Given the description of an element on the screen output the (x, y) to click on. 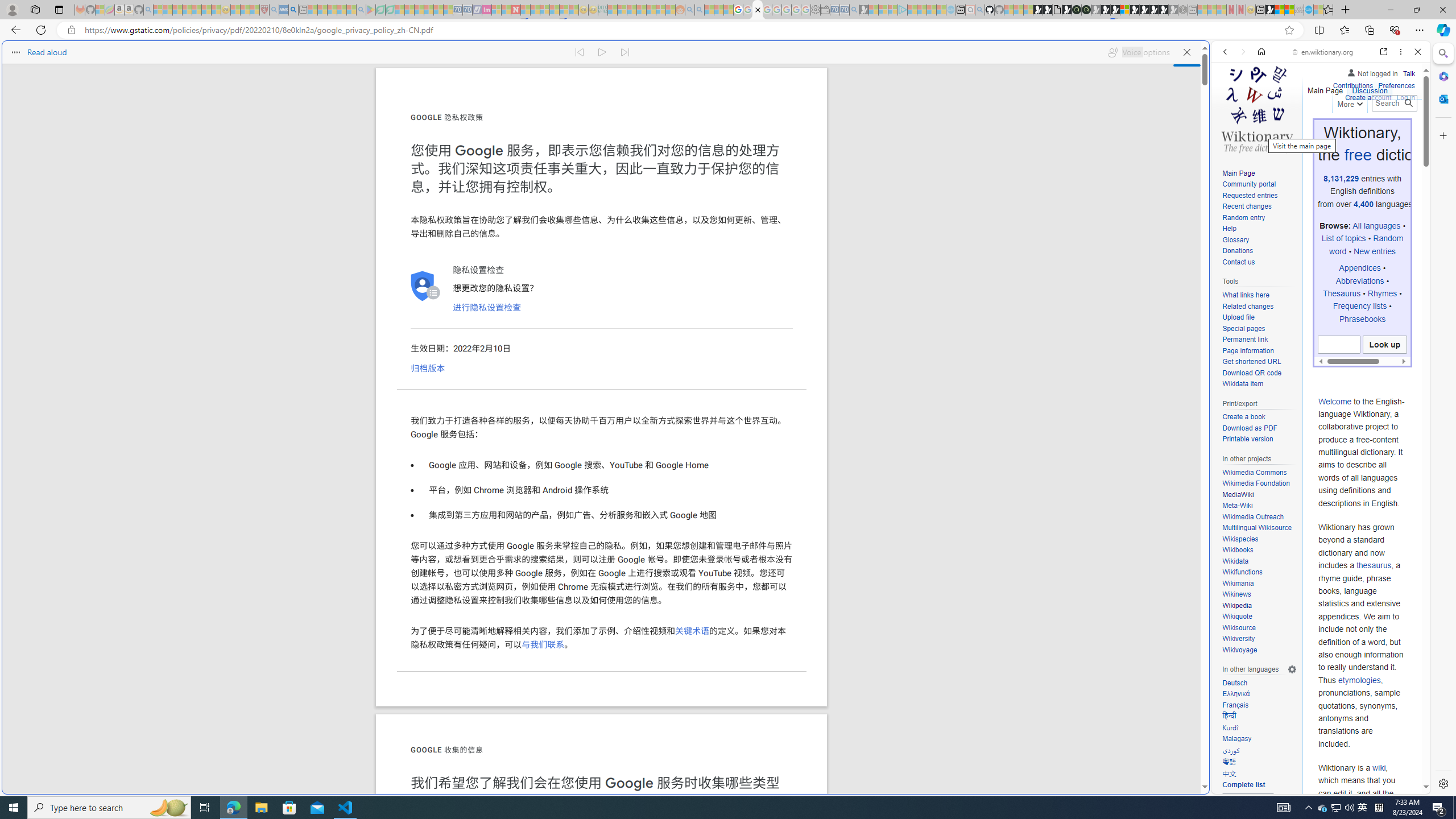
Search Wiktionary (1393, 103)
utah sues federal government - Search (922, 389)
4,400 (1364, 203)
Wikiquote (1236, 616)
Complete list (1243, 784)
Wikibooks (1237, 550)
Create a book (1259, 417)
All languages (1376, 225)
thesaurus (1373, 565)
